Given the description of an element on the screen output the (x, y) to click on. 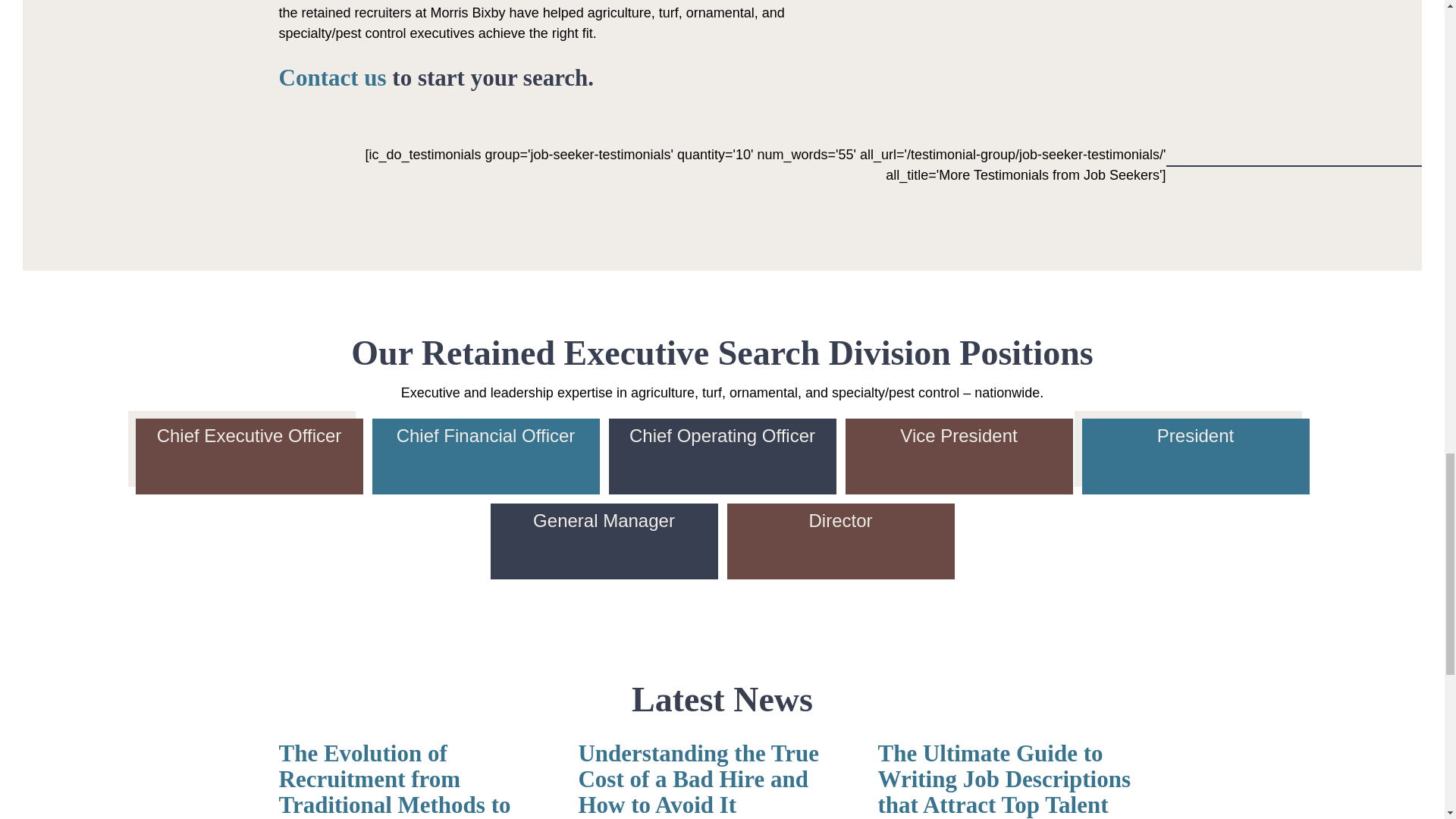
Contact us (333, 77)
